Given the description of an element on the screen output the (x, y) to click on. 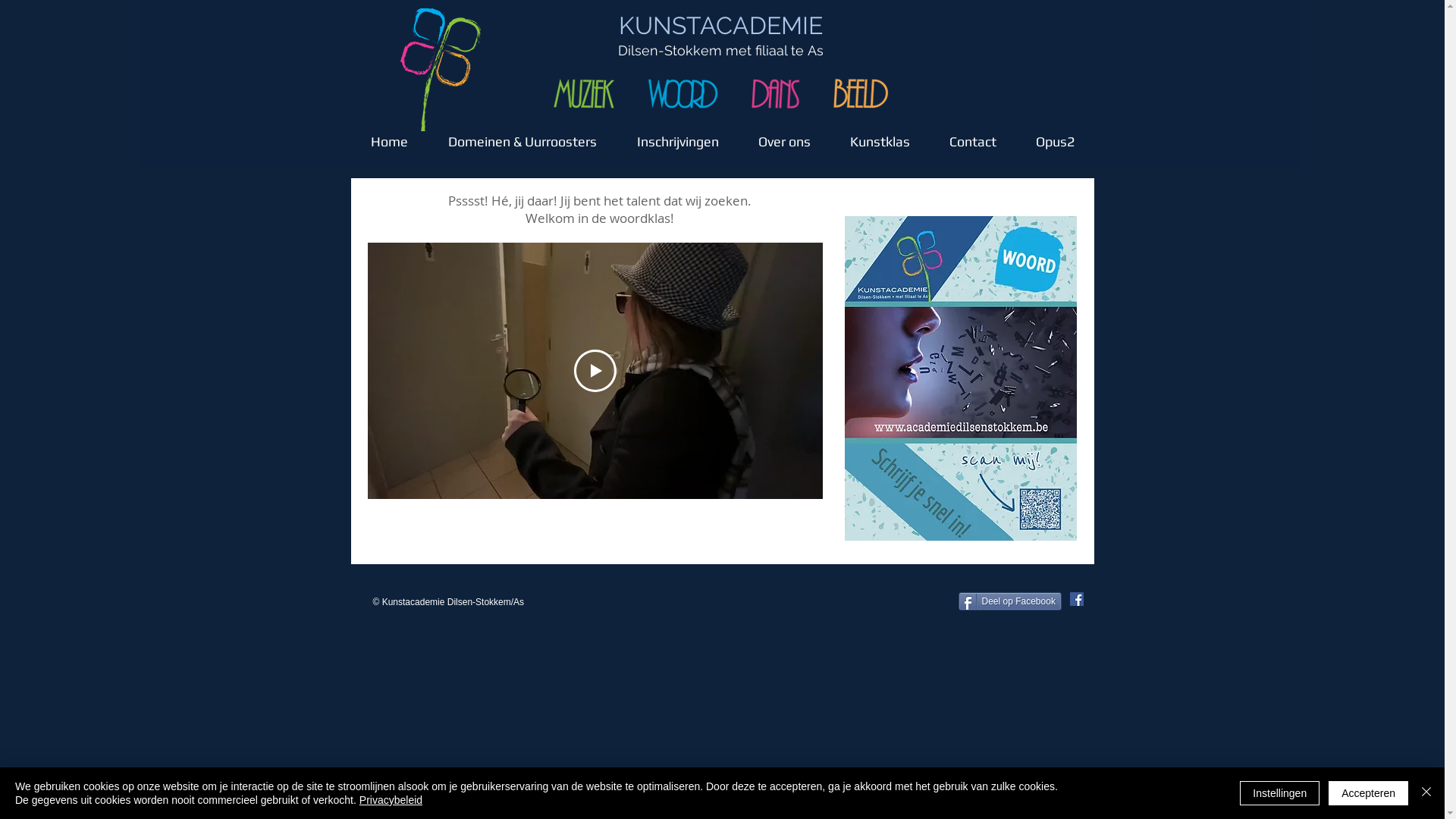
Privacybeleid Element type: text (390, 799)
Inschrijvingen Element type: text (677, 134)
Domeinen & Uurroosters Element type: text (521, 134)
Accepteren Element type: text (1368, 793)
Opus2 Element type: text (1055, 134)
Deel op Facebook Element type: text (1009, 601)
Contact Element type: text (972, 134)
Kunstklas Element type: text (878, 134)
Instellingen Element type: text (1279, 793)
Over ons Element type: text (784, 134)
Home Element type: text (388, 134)
